Given the description of an element on the screen output the (x, y) to click on. 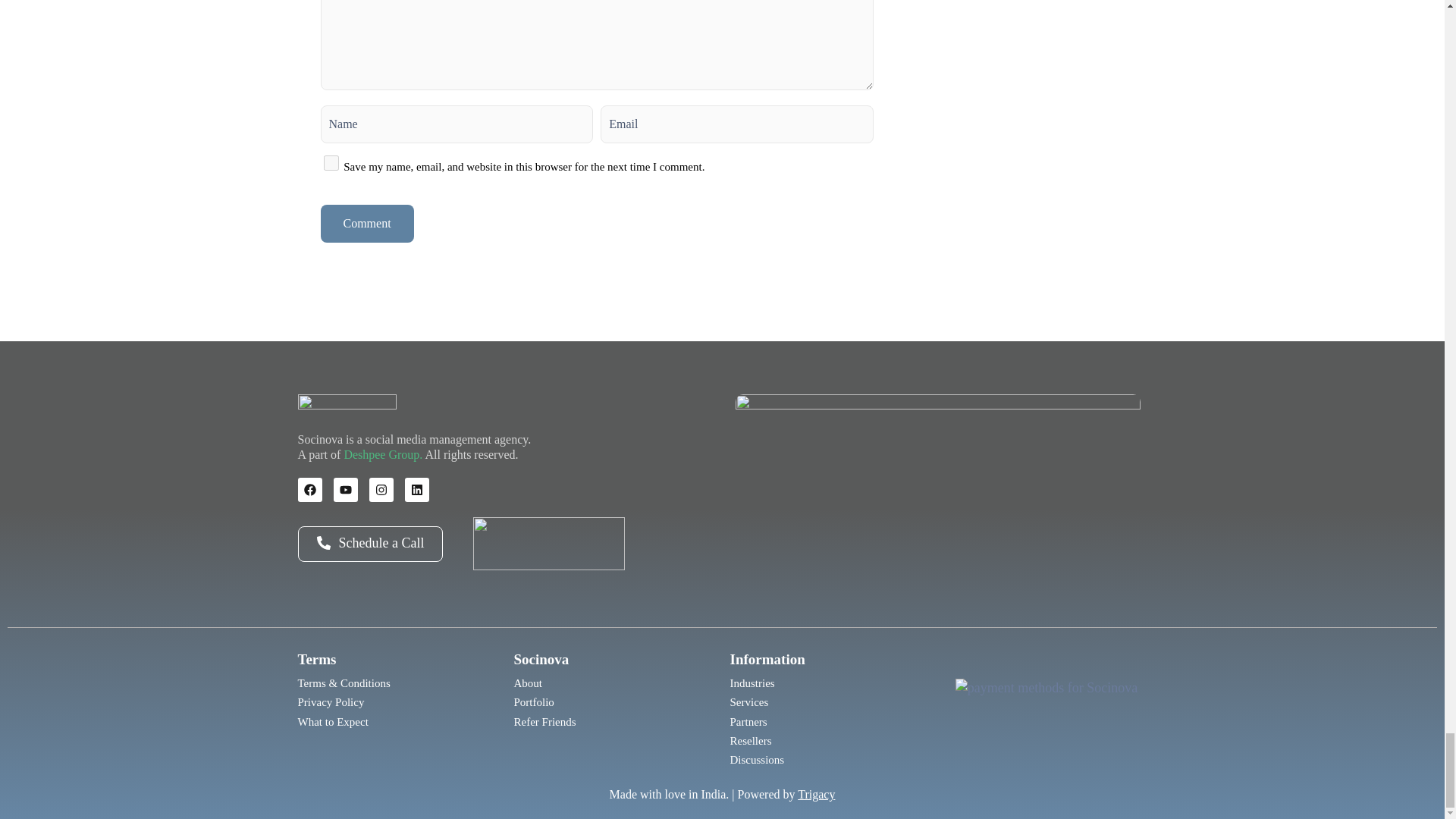
Comment (366, 223)
yes (330, 162)
payment methods for Socinova (1046, 710)
